Given the description of an element on the screen output the (x, y) to click on. 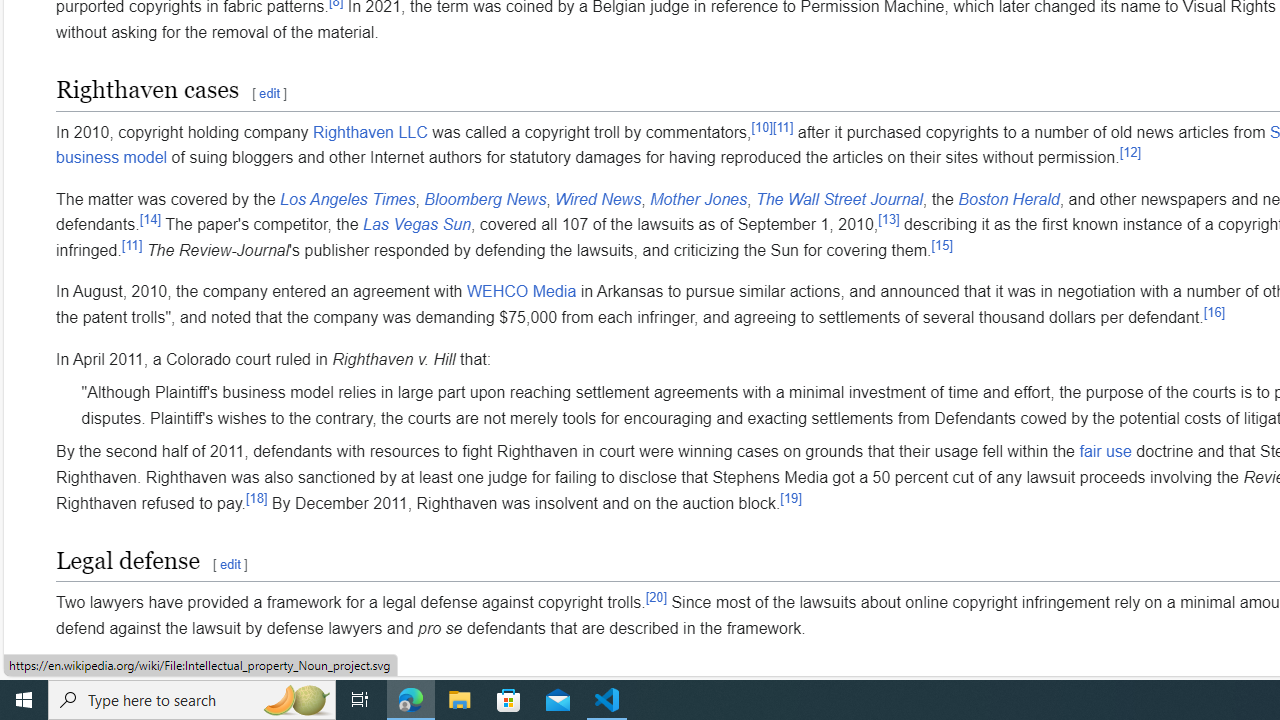
[13] (888, 218)
The Wall Street Journal (838, 199)
[19] (790, 498)
Wired News (598, 199)
[14] (150, 218)
[18] (256, 498)
fair use (1105, 451)
Bloomberg News (484, 199)
[10] (762, 126)
Los Angeles Times (348, 199)
[12] (1129, 151)
Las Vegas Sun (416, 225)
business model (111, 158)
[20] (655, 596)
edit (229, 565)
